Given the description of an element on the screen output the (x, y) to click on. 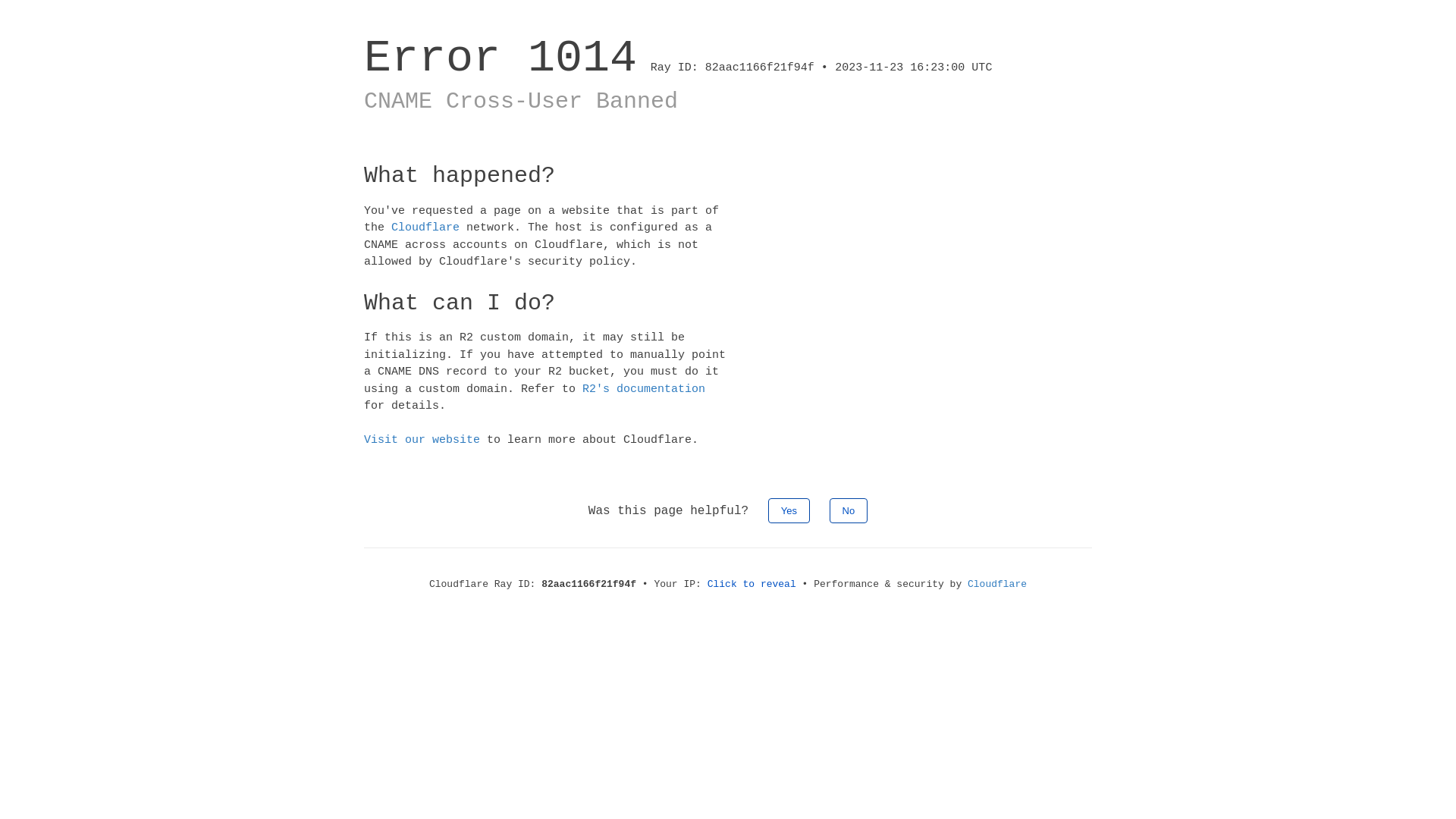
Click to reveal Element type: text (751, 583)
Cloudflare Element type: text (425, 227)
Yes Element type: text (788, 509)
No Element type: text (848, 509)
R2's documentation Element type: text (643, 388)
Visit our website Element type: text (422, 439)
Cloudflare Element type: text (996, 583)
